Given the description of an element on the screen output the (x, y) to click on. 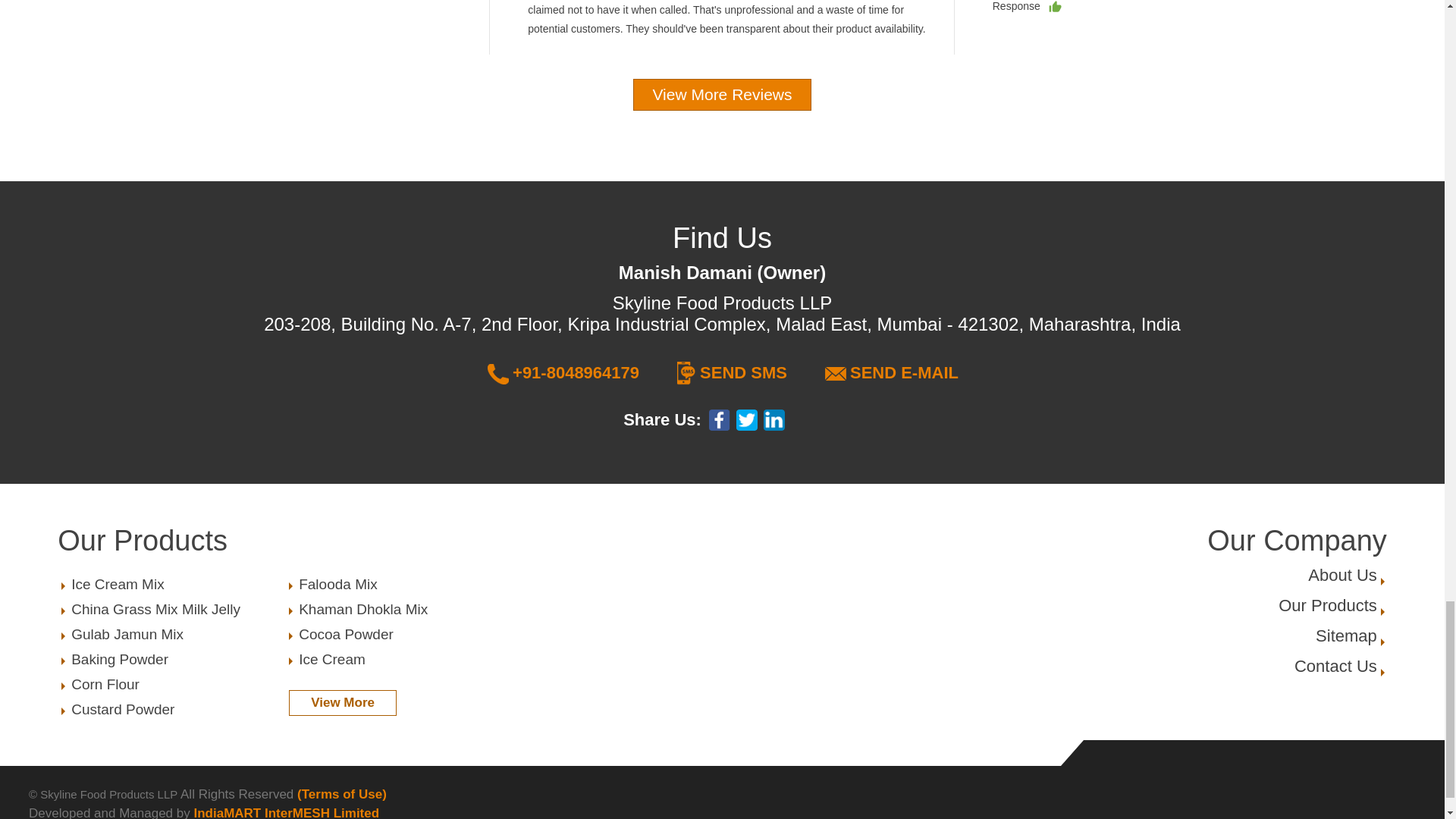
Falooda Mix (399, 584)
Ice Cream (399, 659)
Baking Powder (172, 659)
Cocoa Powder (1327, 605)
Khaman Dhokla Mix (399, 634)
View More (399, 609)
Gulab Jamun Mix (342, 702)
China Grass Mix Milk Jelly (172, 634)
Corn Flour (172, 609)
